Given the description of an element on the screen output the (x, y) to click on. 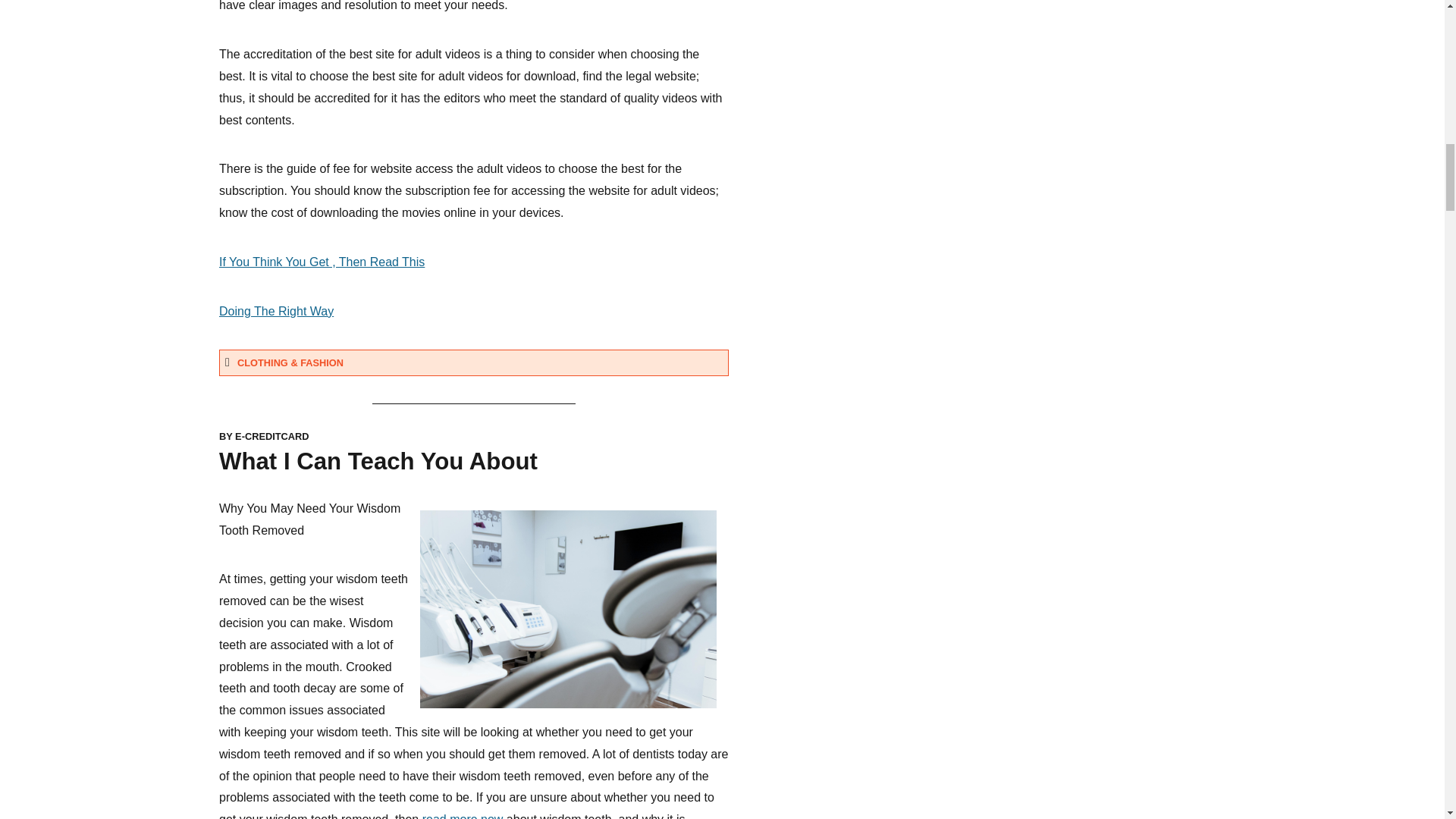
Doing The Right Way (276, 310)
read more now (462, 816)
If You Think You Get , Then Read This (322, 261)
What I Can Teach You About (378, 461)
